Given the description of an element on the screen output the (x, y) to click on. 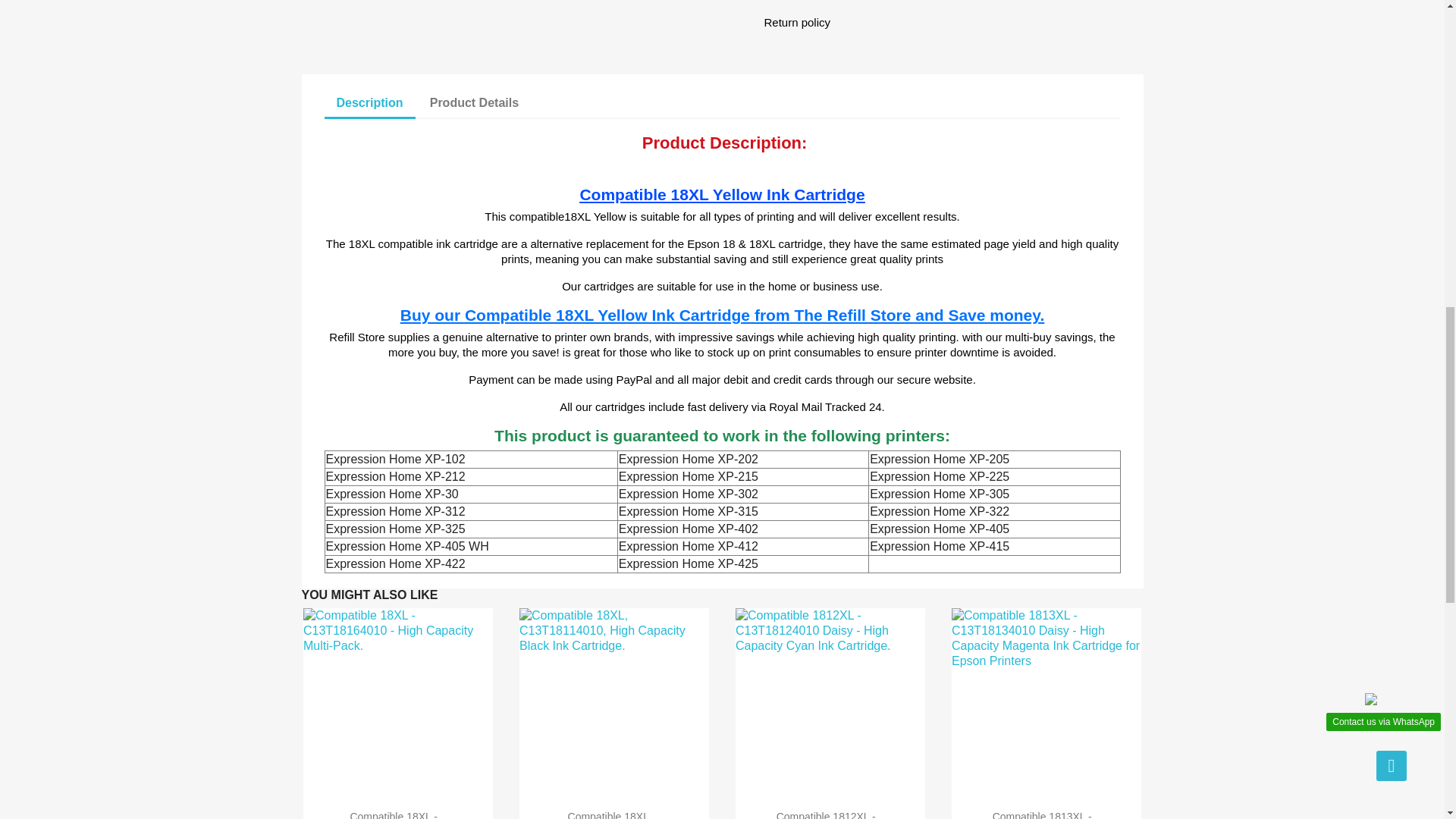
Description (369, 103)
Compatible 18XL -... (397, 814)
Product Details (474, 103)
Compatible 1812XL -... (830, 814)
Compatible 18XL,... (614, 814)
Compatible 1813XL -... (1046, 814)
